Given the description of an element on the screen output the (x, y) to click on. 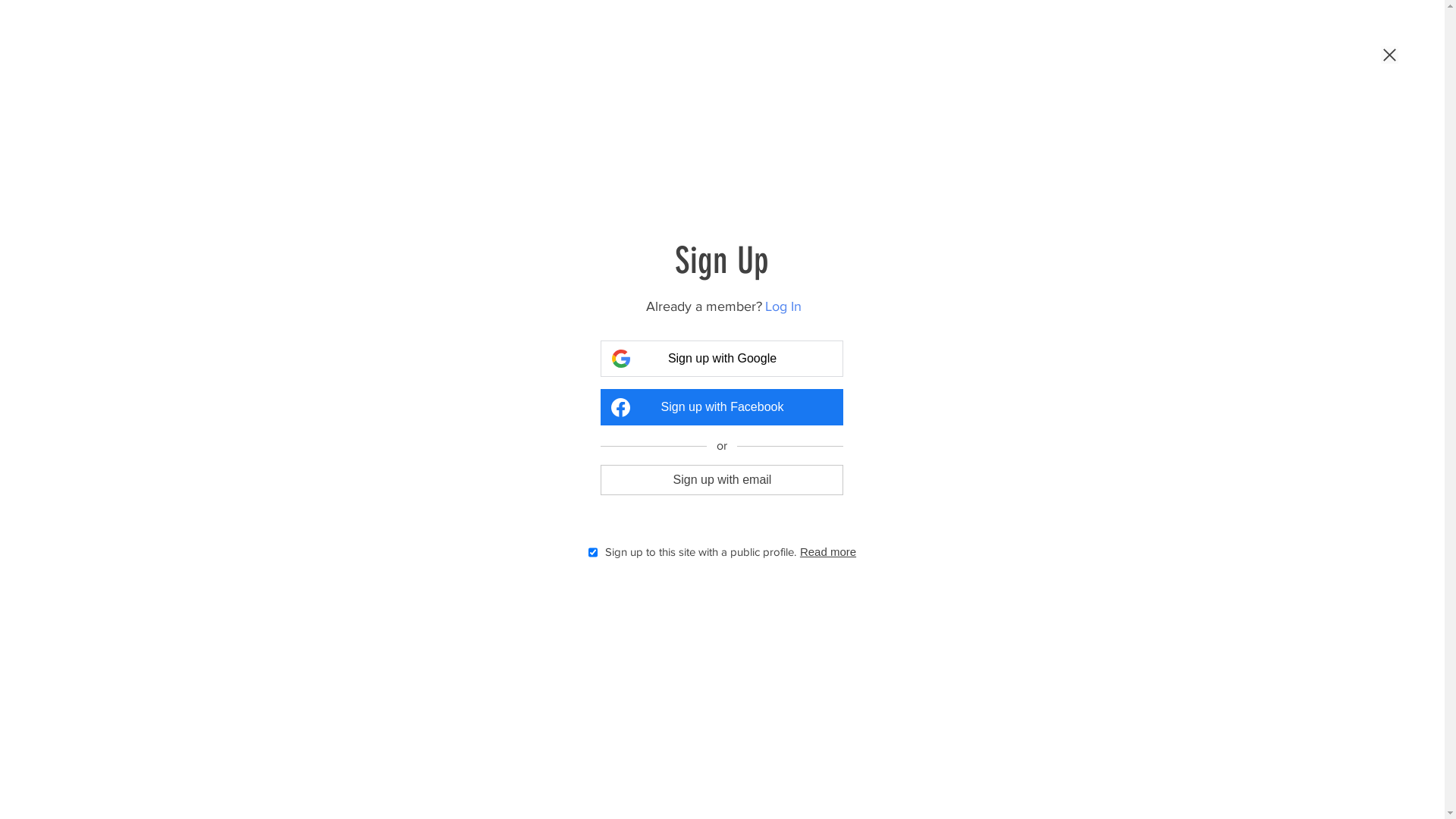
Sign up with email Element type: text (721, 479)
Sign up with Facebook Element type: text (721, 407)
Read more Element type: text (828, 551)
Sign up with Google Element type: text (721, 358)
Log In Element type: text (783, 306)
